Given the description of an element on the screen output the (x, y) to click on. 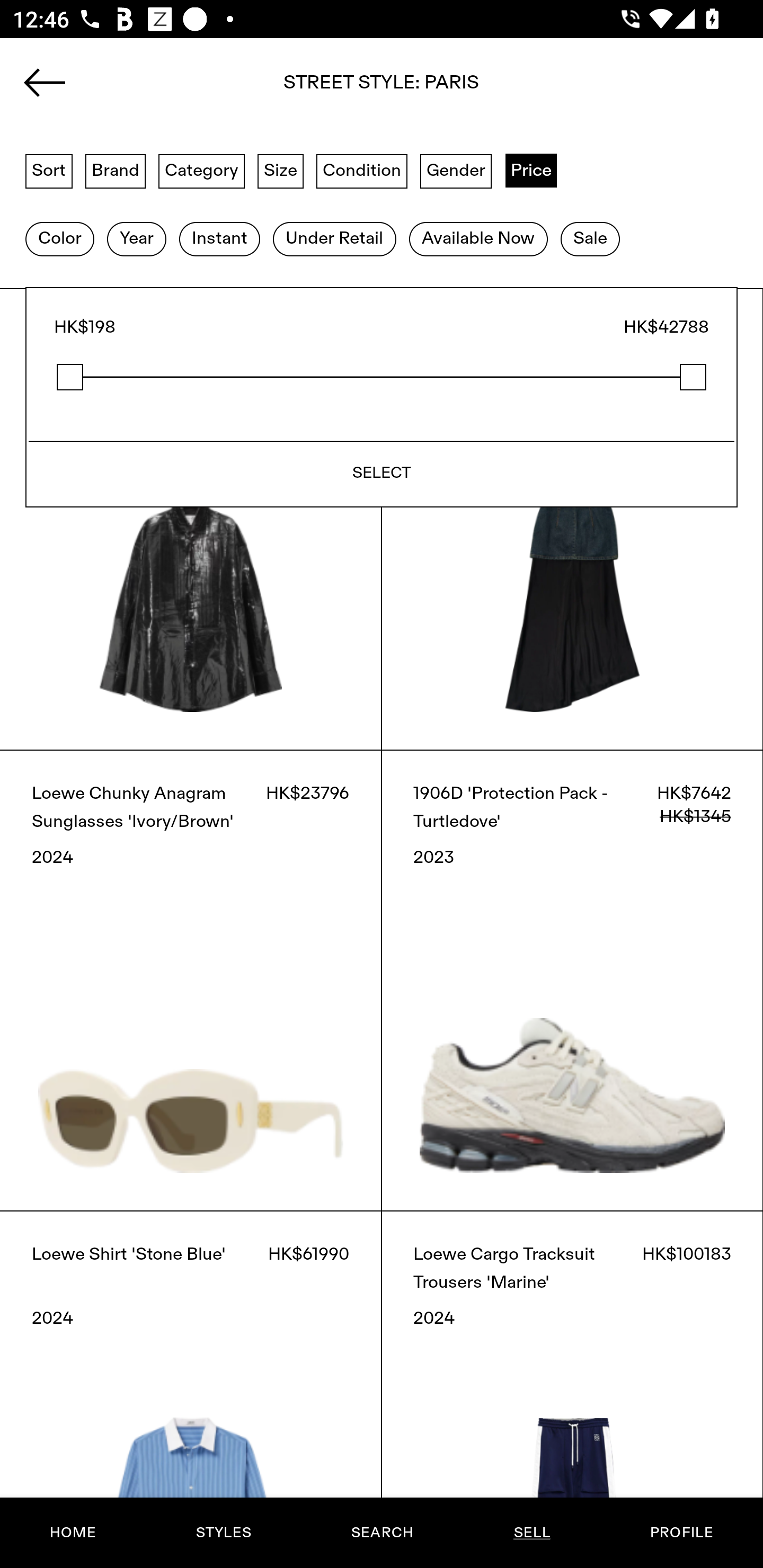
Search (381, 88)
Sort (48, 170)
Brand (115, 170)
Category (201, 170)
Size (280, 170)
Condition (361, 170)
Gender (455, 170)
Price (530, 170)
Color (59, 239)
Year (136, 239)
Instant (219, 239)
Under Retail (334, 239)
Available Now (477, 239)
Sale (589, 239)
RETURN ADDRESS (381, 369)
Loewe Shirt 'Stone Blue' HK$61990 2024 (190, 1389)
HOME (72, 1532)
STYLES (222, 1532)
SEARCH (381, 1532)
SELL (531, 1532)
PROFILE (681, 1532)
